Given the description of an element on the screen output the (x, y) to click on. 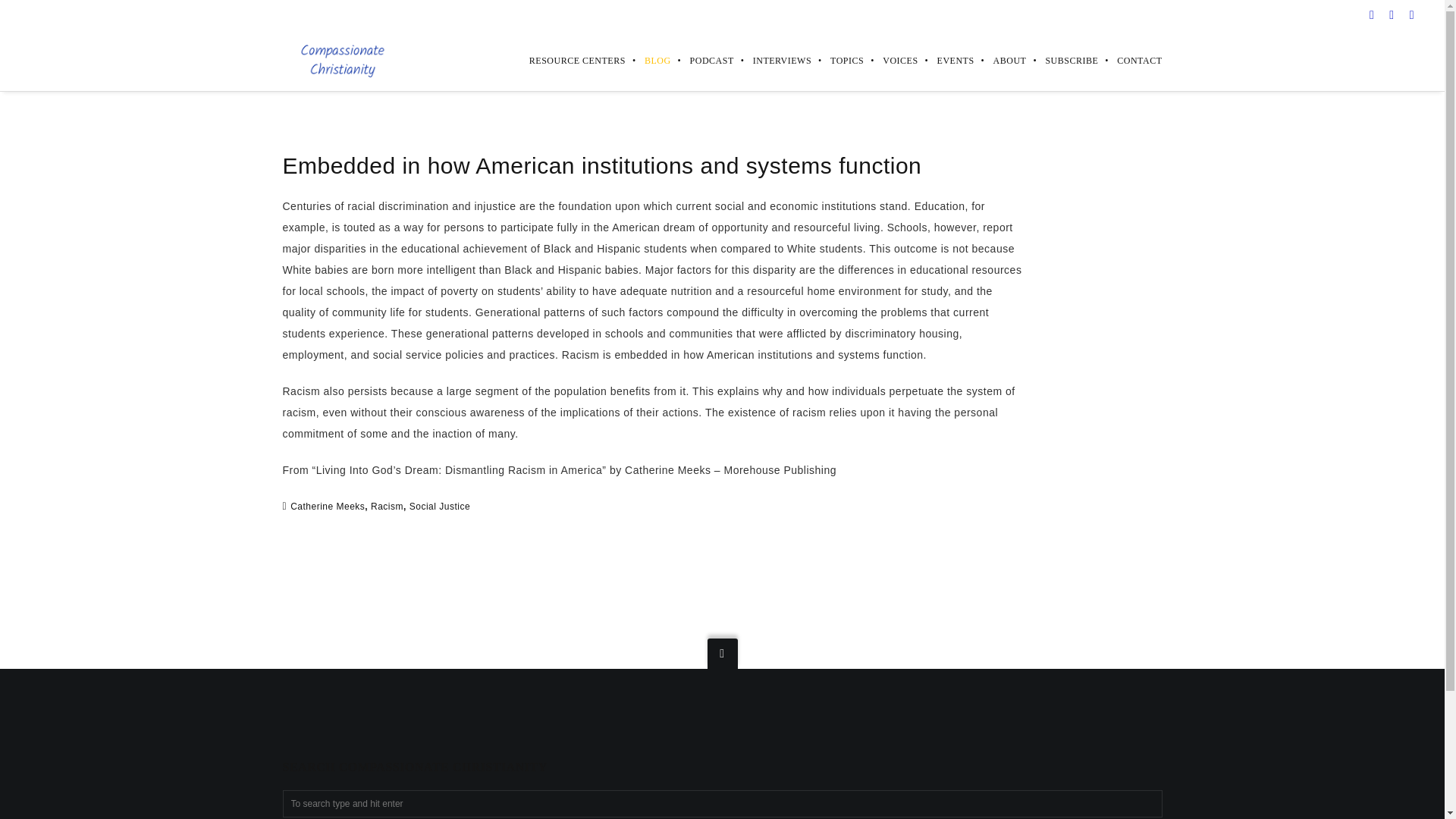
RESOURCE CENTERS (568, 60)
Racism (387, 505)
SUBSCRIBE (1061, 60)
CONTACT (1129, 60)
INTERVIEWS (771, 60)
Social Justice (439, 505)
Search for: (721, 803)
Catherine Meeks (327, 505)
Search (31, 15)
EVENTS (946, 60)
Compassionate Christianity (341, 60)
PODCAST (702, 60)
